Given the description of an element on the screen output the (x, y) to click on. 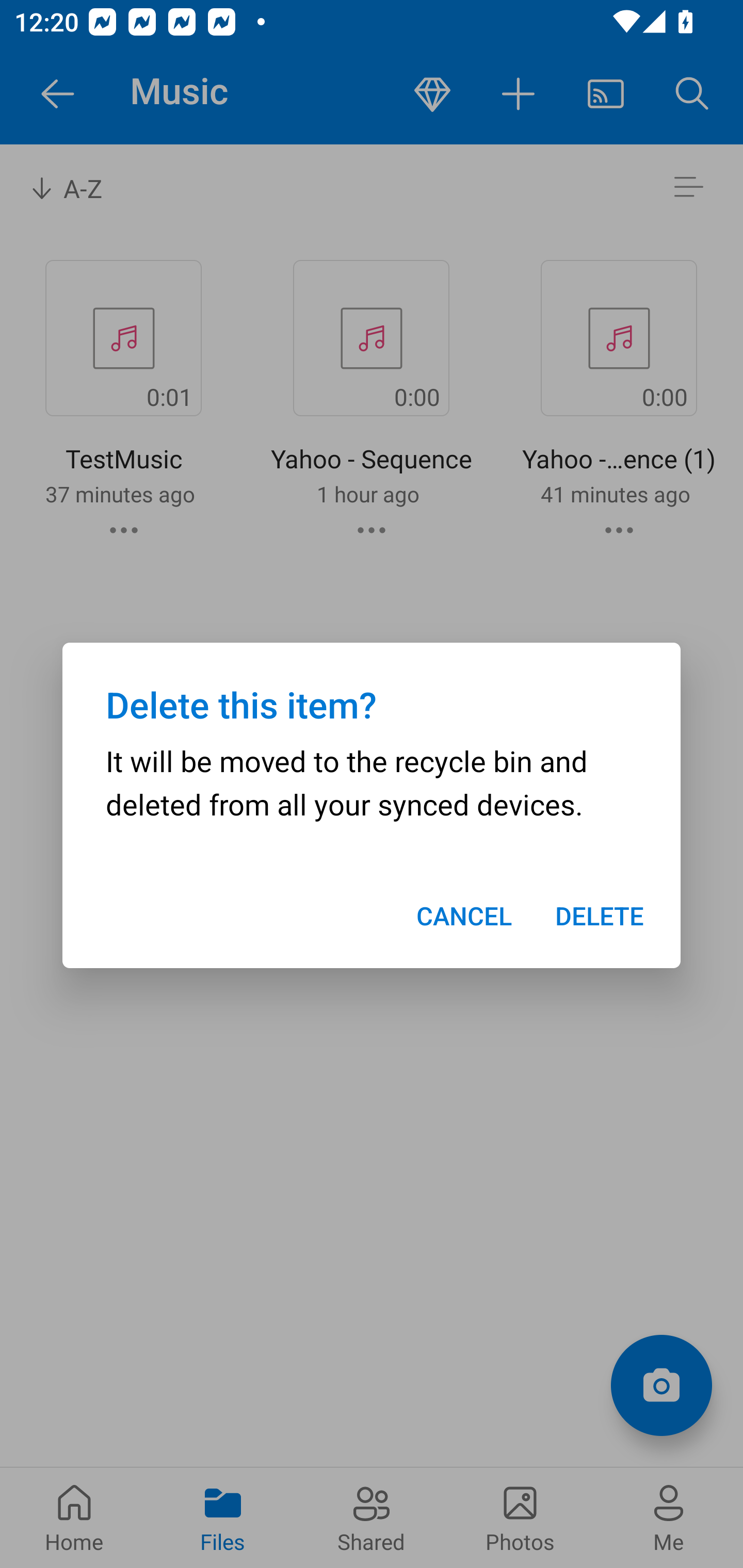
CANCEL (463, 915)
DELETE (599, 915)
